Given the description of an element on the screen output the (x, y) to click on. 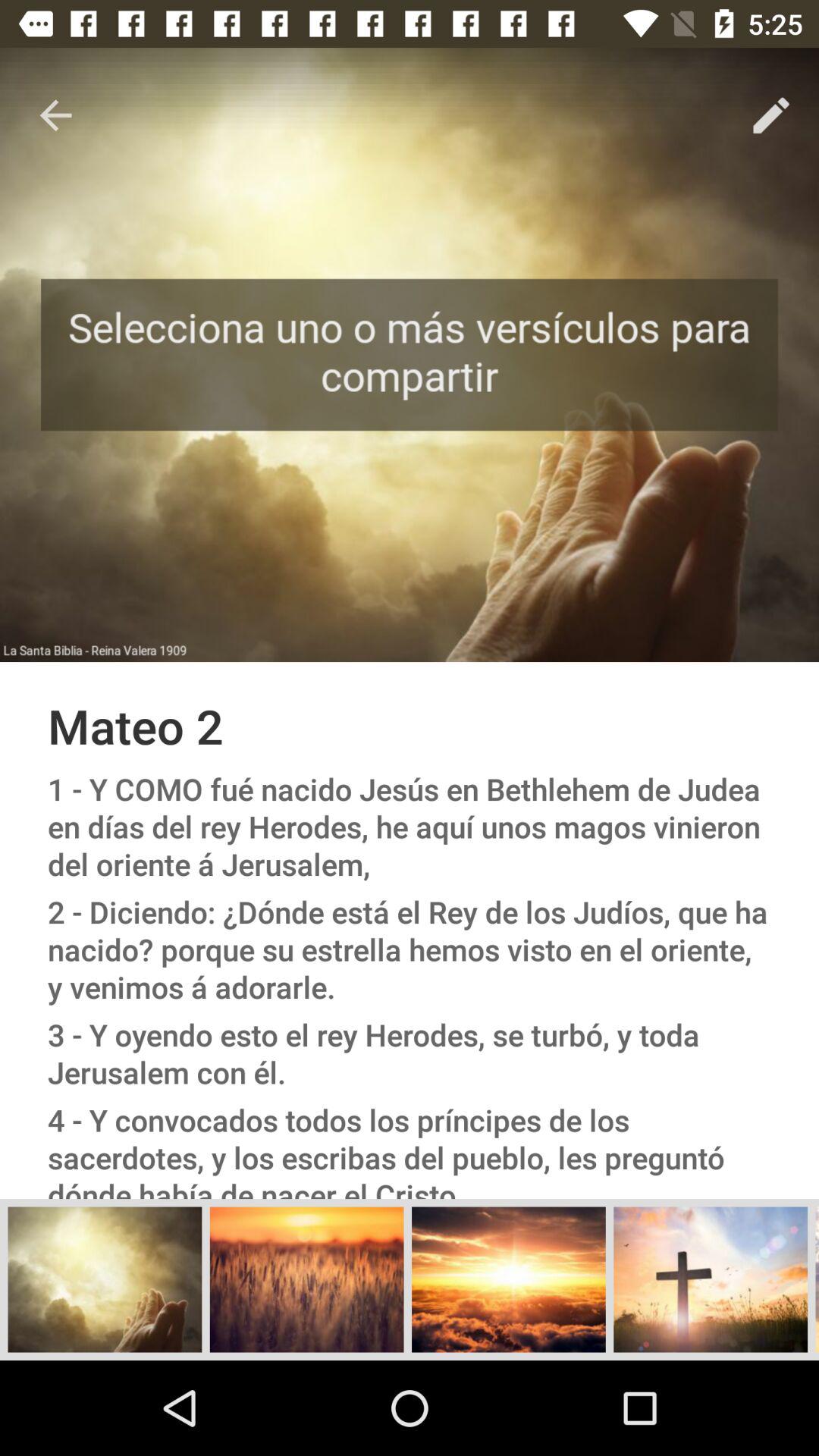
scroll to 3 y oyendo icon (409, 1053)
